Given the description of an element on the screen output the (x, y) to click on. 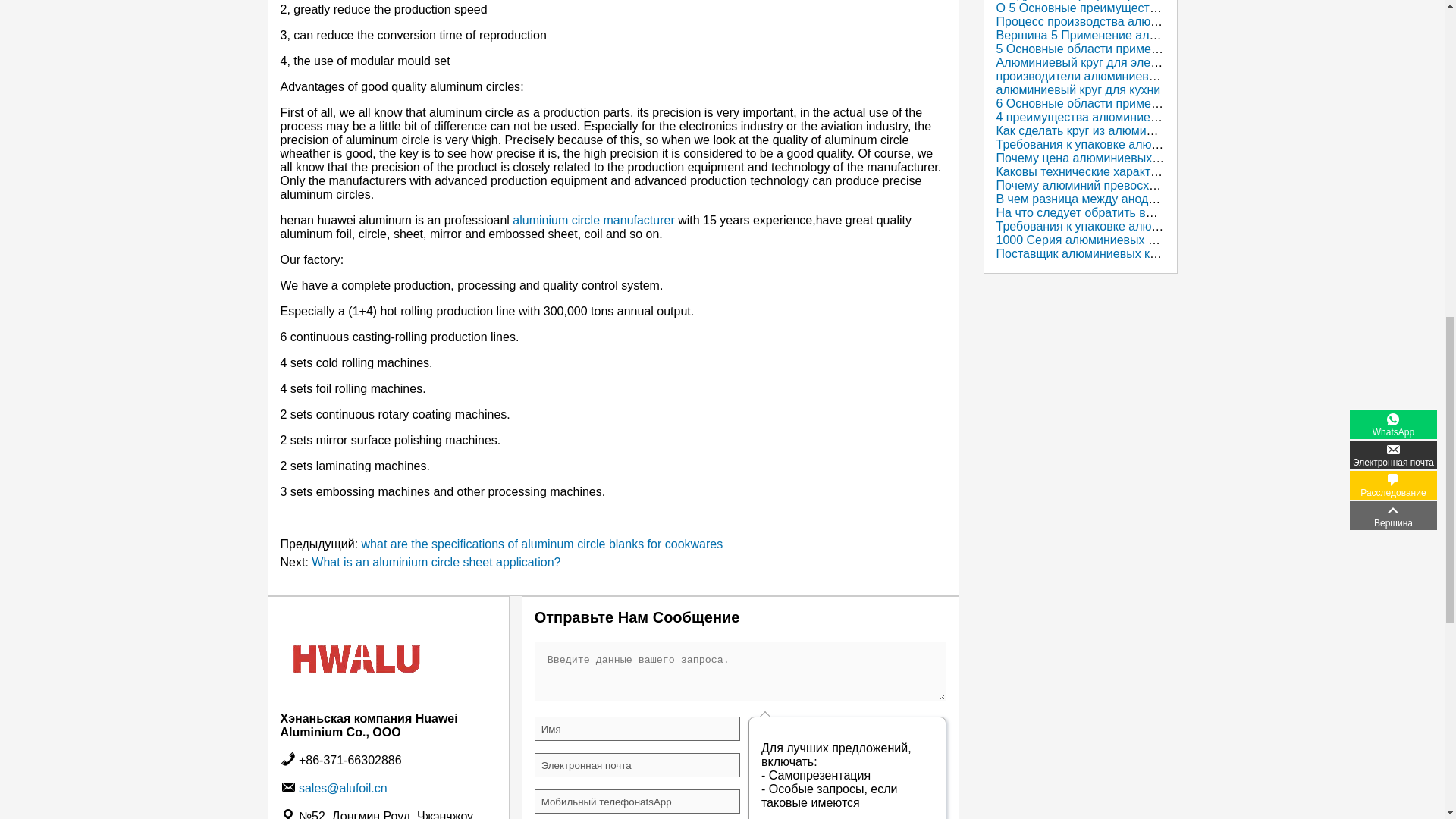
aluminium circle manufacturer (593, 219)
What is an aluminium circle sheet application? (435, 562)
